Given the description of an element on the screen output the (x, y) to click on. 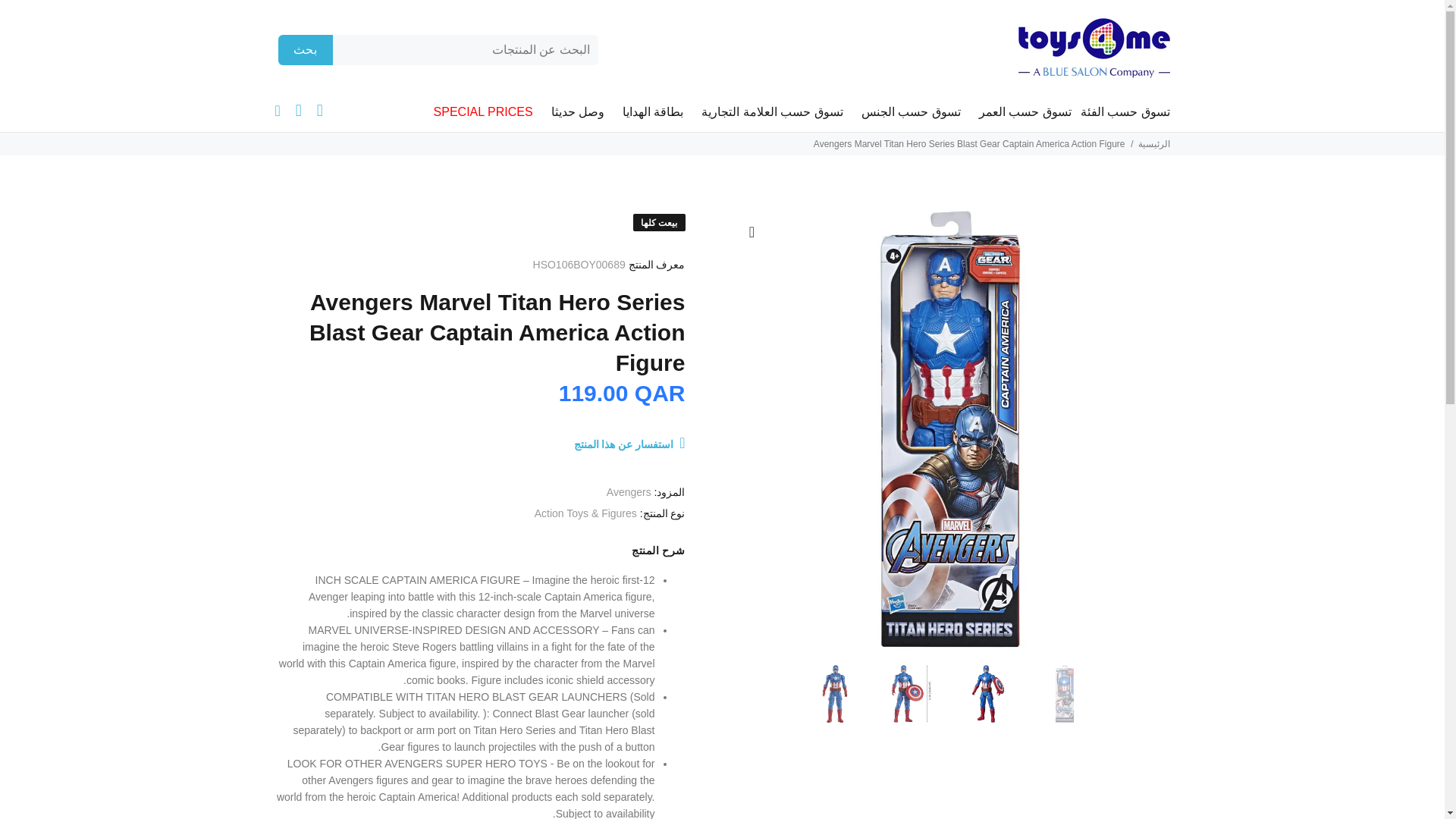
Avengers (628, 491)
